Given the description of an element on the screen output the (x, y) to click on. 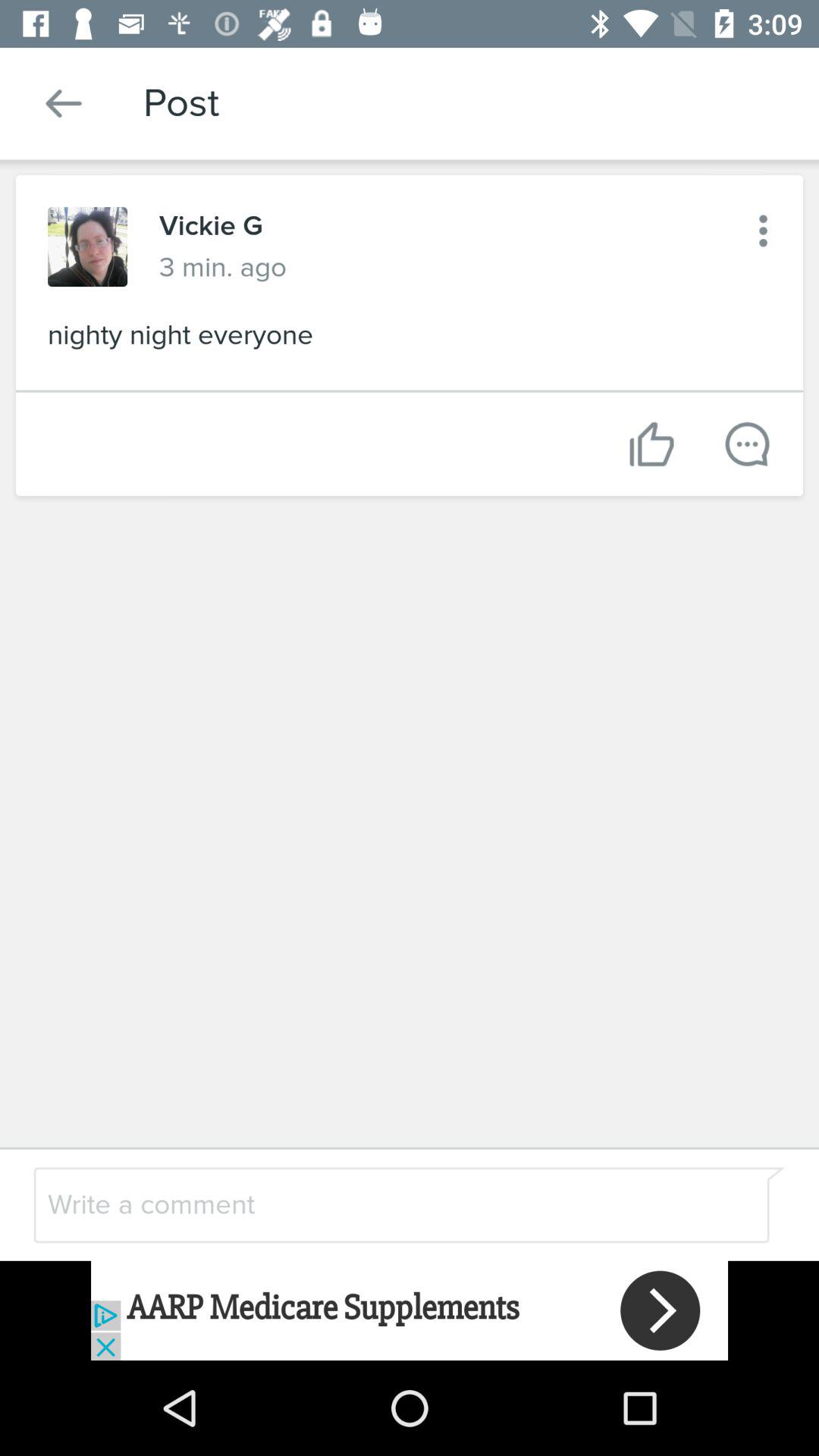
like post (651, 444)
